Given the description of an element on the screen output the (x, y) to click on. 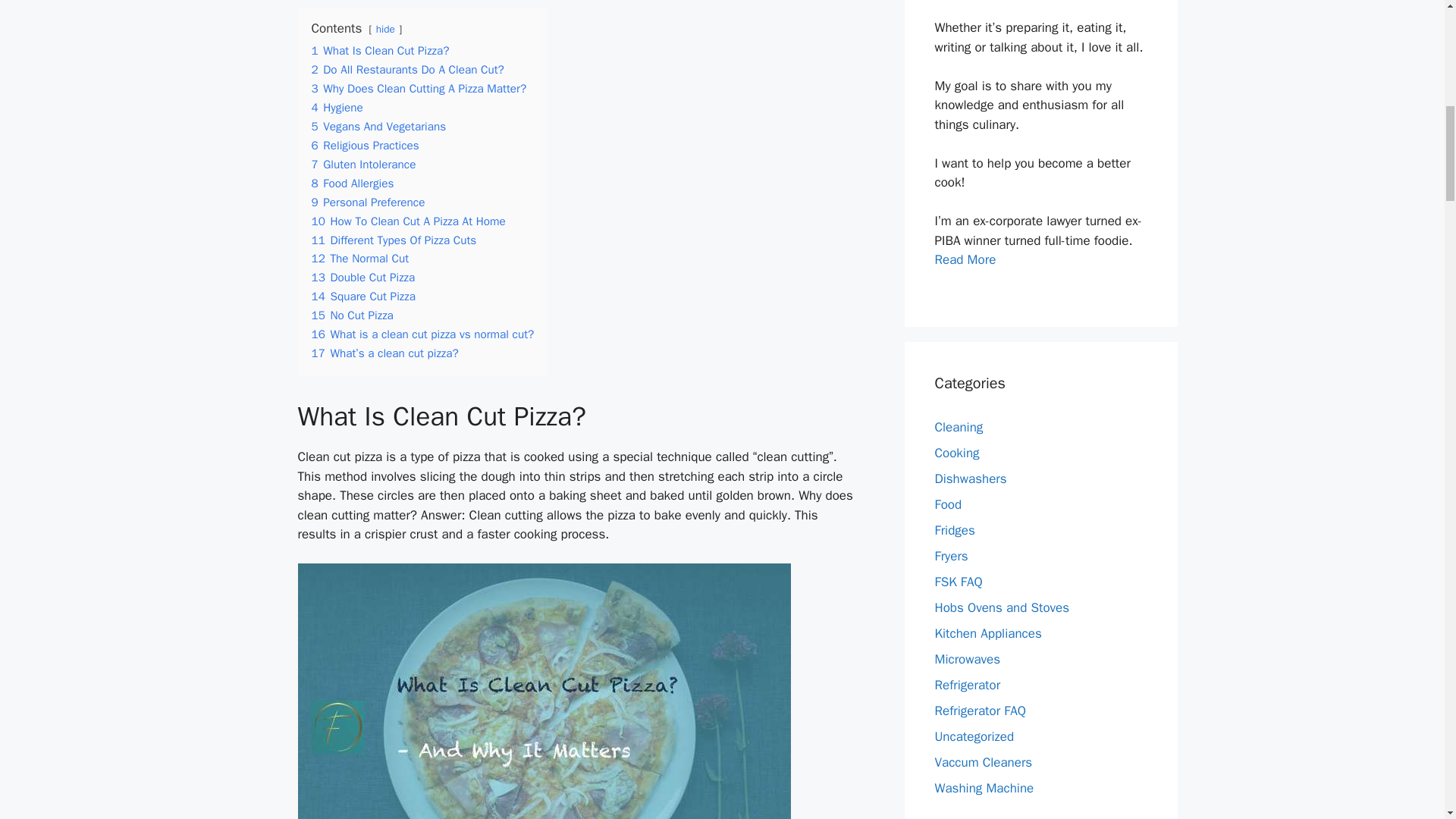
hide (384, 29)
12 The Normal Cut (360, 258)
7 Gluten Intolerance (362, 164)
11 Different Types Of Pizza Cuts (393, 240)
14 Square Cut Pizza (362, 296)
2 Do All Restaurants Do A Clean Cut? (407, 69)
13 Double Cut Pizza (362, 277)
15 No Cut Pizza (352, 314)
8 Food Allergies (352, 183)
9 Personal Preference (368, 201)
6 Religious Practices (365, 145)
16 What is a clean cut pizza vs normal cut? (422, 334)
1 What Is Clean Cut Pizza? (379, 50)
3 Why Does Clean Cutting A Pizza Matter? (418, 88)
10 How To Clean Cut A Pizza At Home (408, 221)
